Given the description of an element on the screen output the (x, y) to click on. 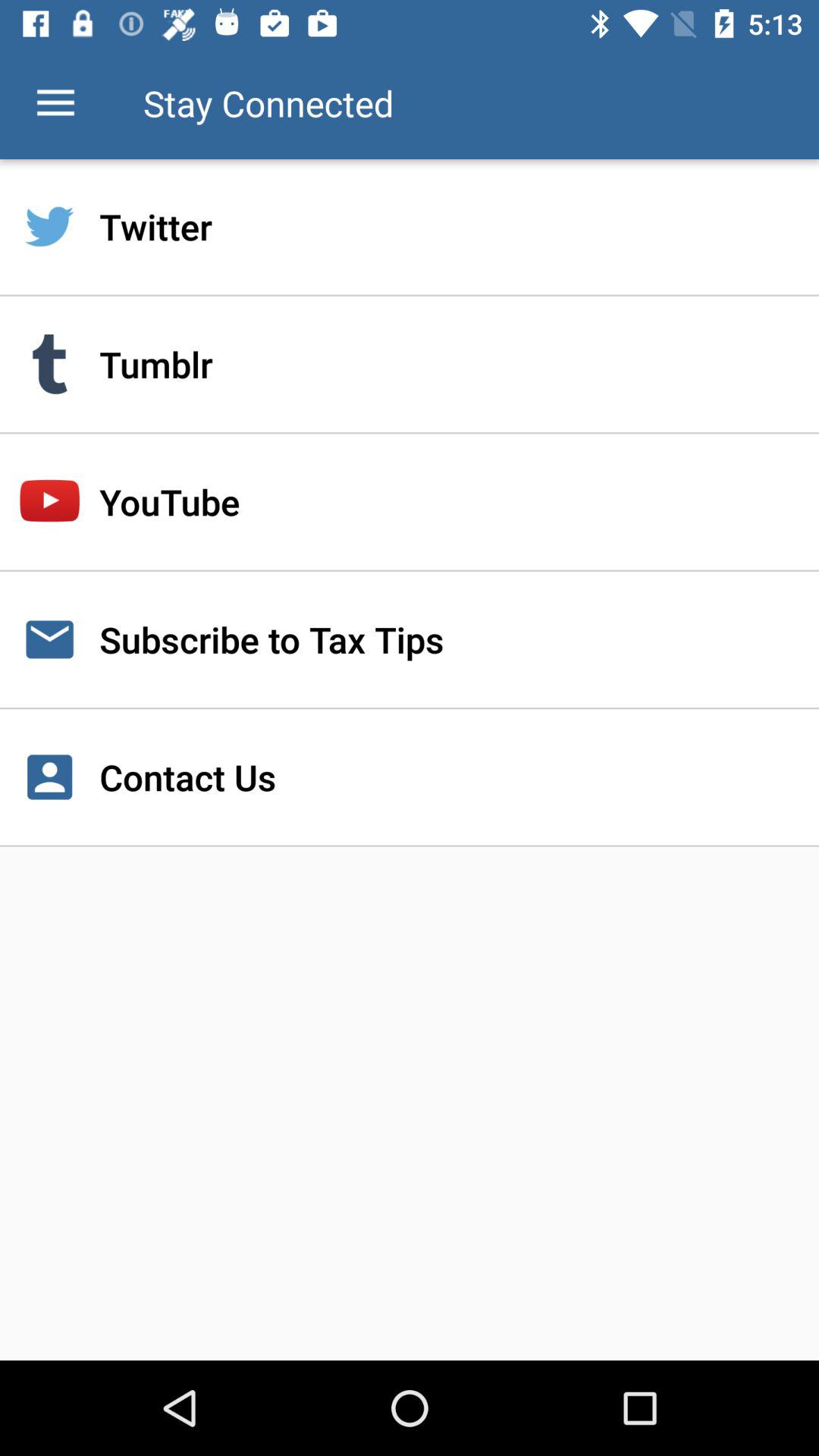
scroll until contact us (409, 777)
